Given the description of an element on the screen output the (x, y) to click on. 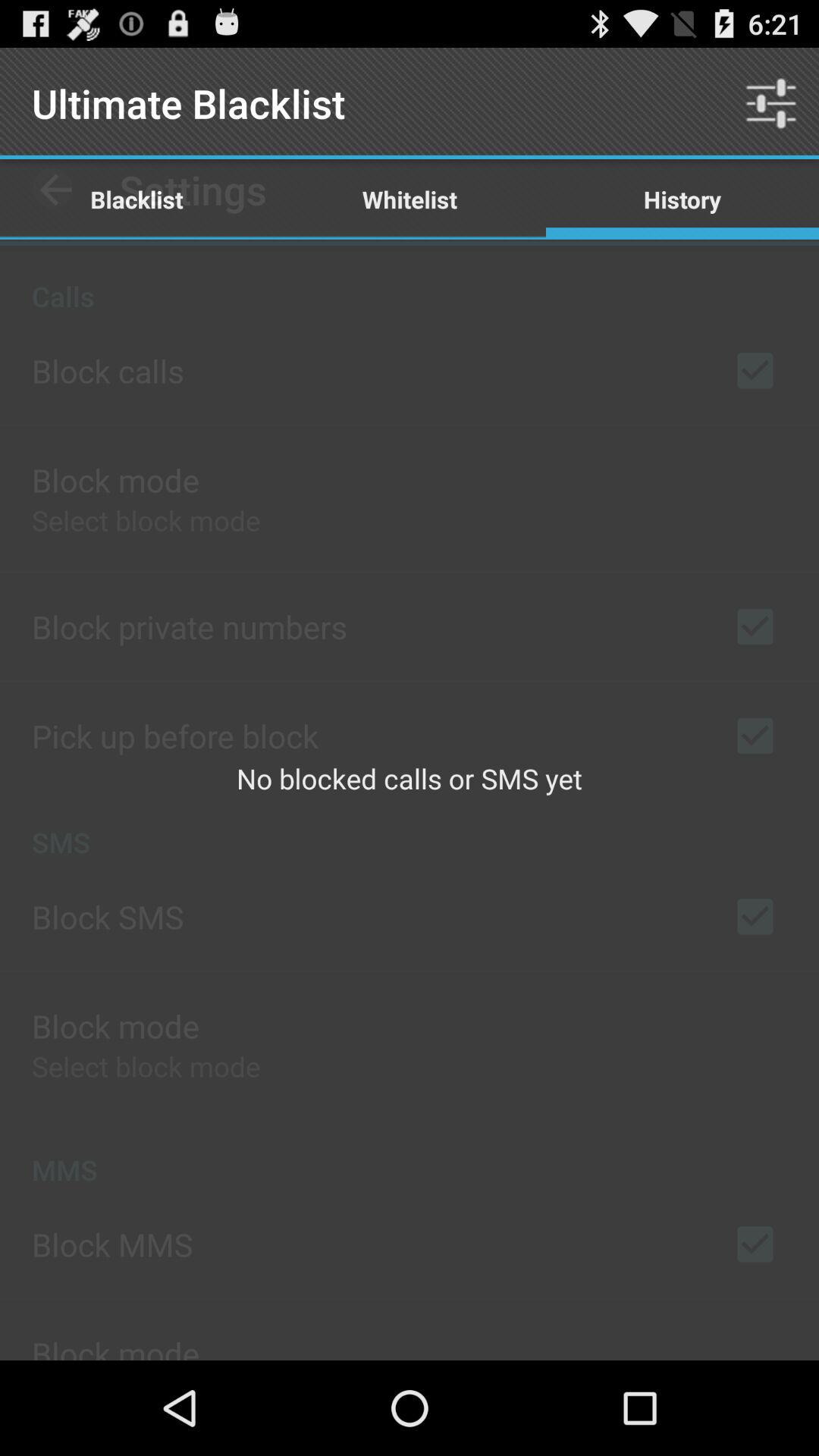
click the whitelist at the top (409, 199)
